Given the description of an element on the screen output the (x, y) to click on. 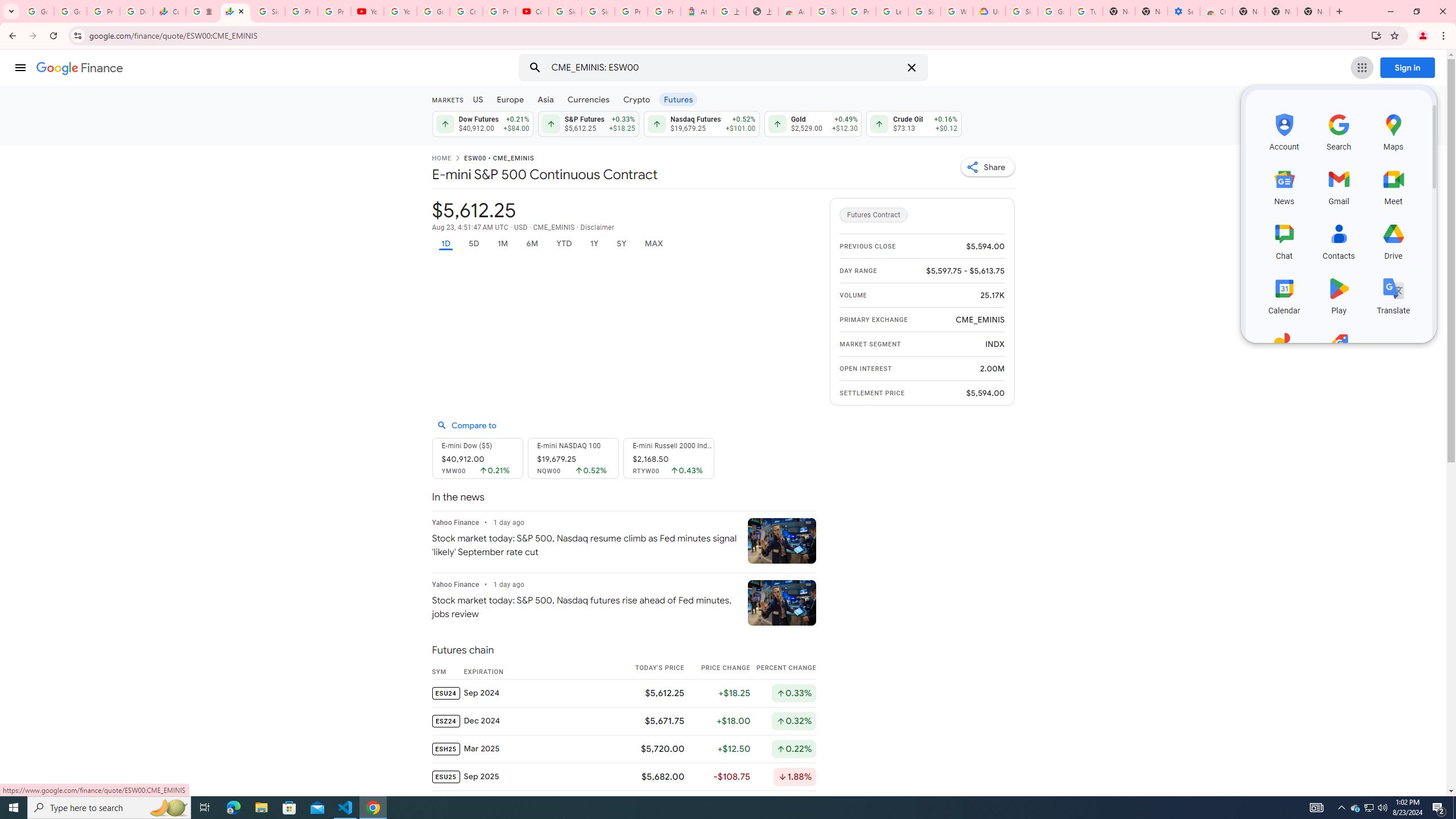
Google Workspace Admin Community (37, 11)
Finance (79, 68)
1D (445, 243)
1M (501, 243)
Chrome Web Store - Accessibility extensions (1216, 11)
Currencies - Google Finance (169, 11)
Google Account Help (433, 11)
Privacy Checkup (334, 11)
ESZ25 Dec 2025 $5,352.50 -$475.50 Down by 8.16% (623, 804)
HOME (440, 158)
Futures (678, 99)
5Y (621, 243)
